Given the description of an element on the screen output the (x, y) to click on. 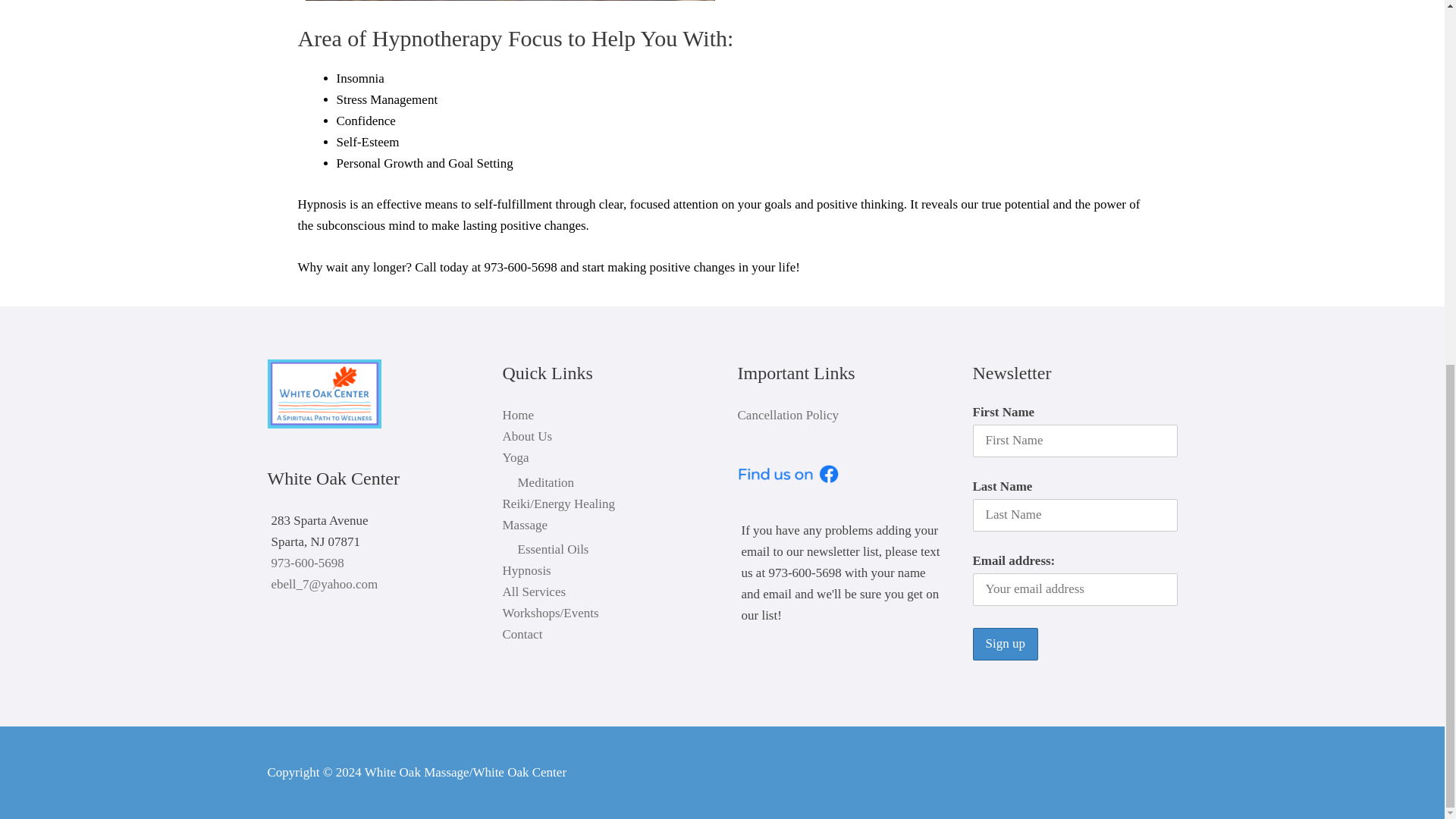
Sign up (1004, 644)
All Services (534, 591)
Meditation (544, 482)
Cancellation Policy (787, 414)
Yoga (515, 457)
Contact (521, 634)
About Us (526, 436)
